Given the description of an element on the screen output the (x, y) to click on. 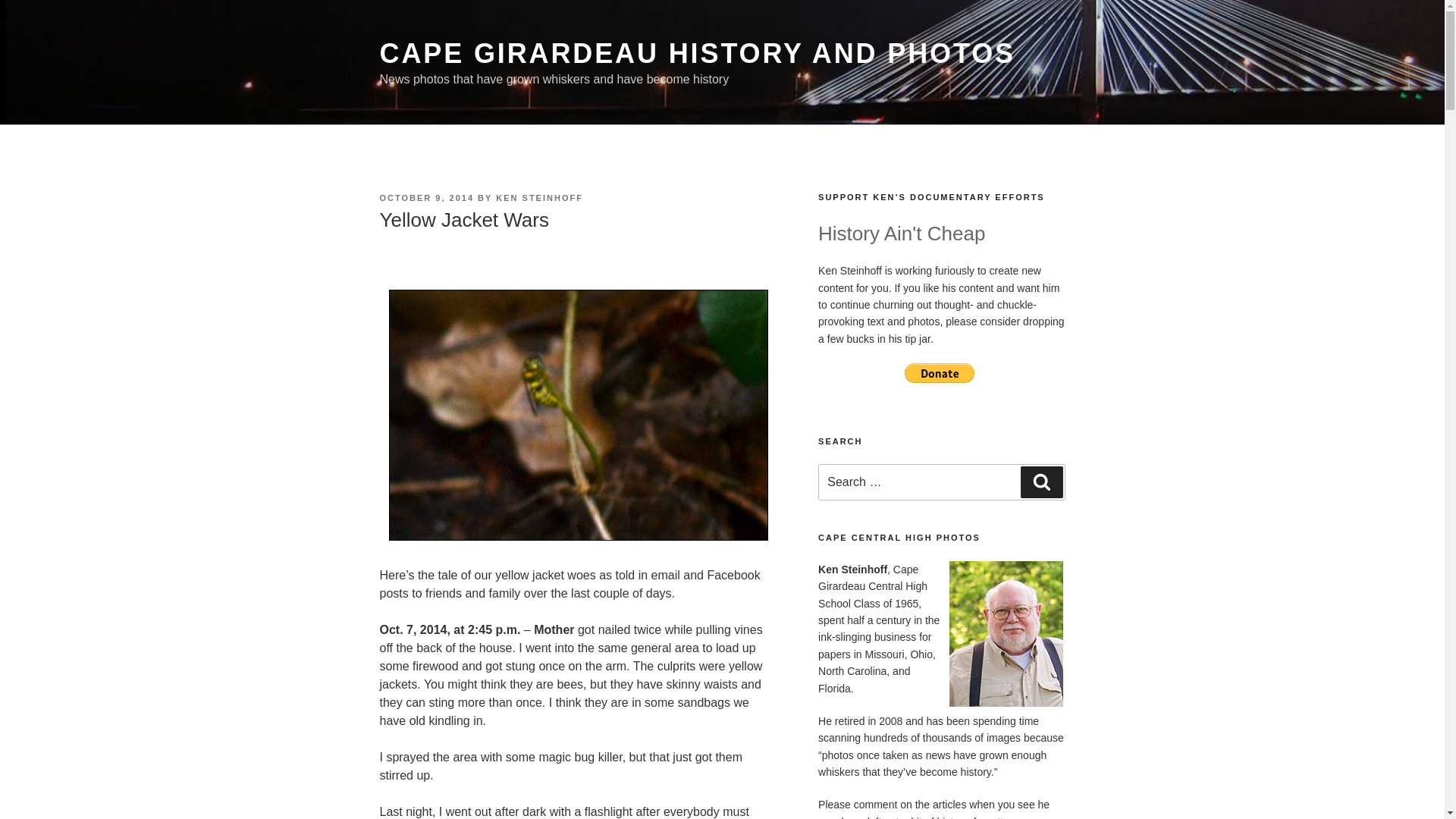
Search (1041, 481)
CAPE GIRARDEAU HISTORY AND PHOTOS (696, 52)
KEN STEINHOFF (539, 197)
OCTOBER 9, 2014 (426, 197)
